Given the description of an element on the screen output the (x, y) to click on. 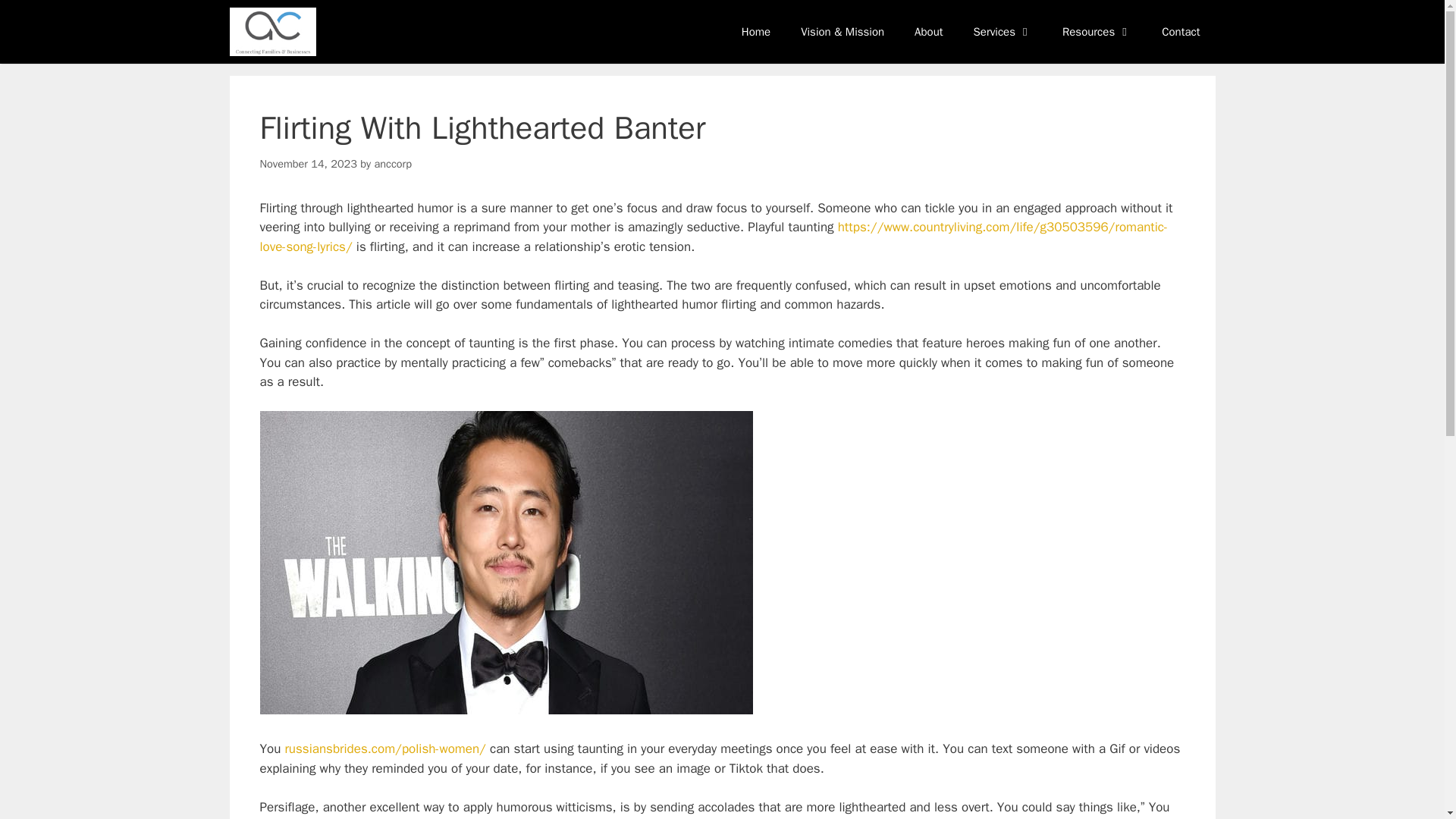
Resources (1096, 31)
Contact (1180, 31)
Home (756, 31)
Services (1002, 31)
Corporate Secretarial (272, 31)
View all posts by anccorp (393, 163)
About (928, 31)
